Given the description of an element on the screen output the (x, y) to click on. 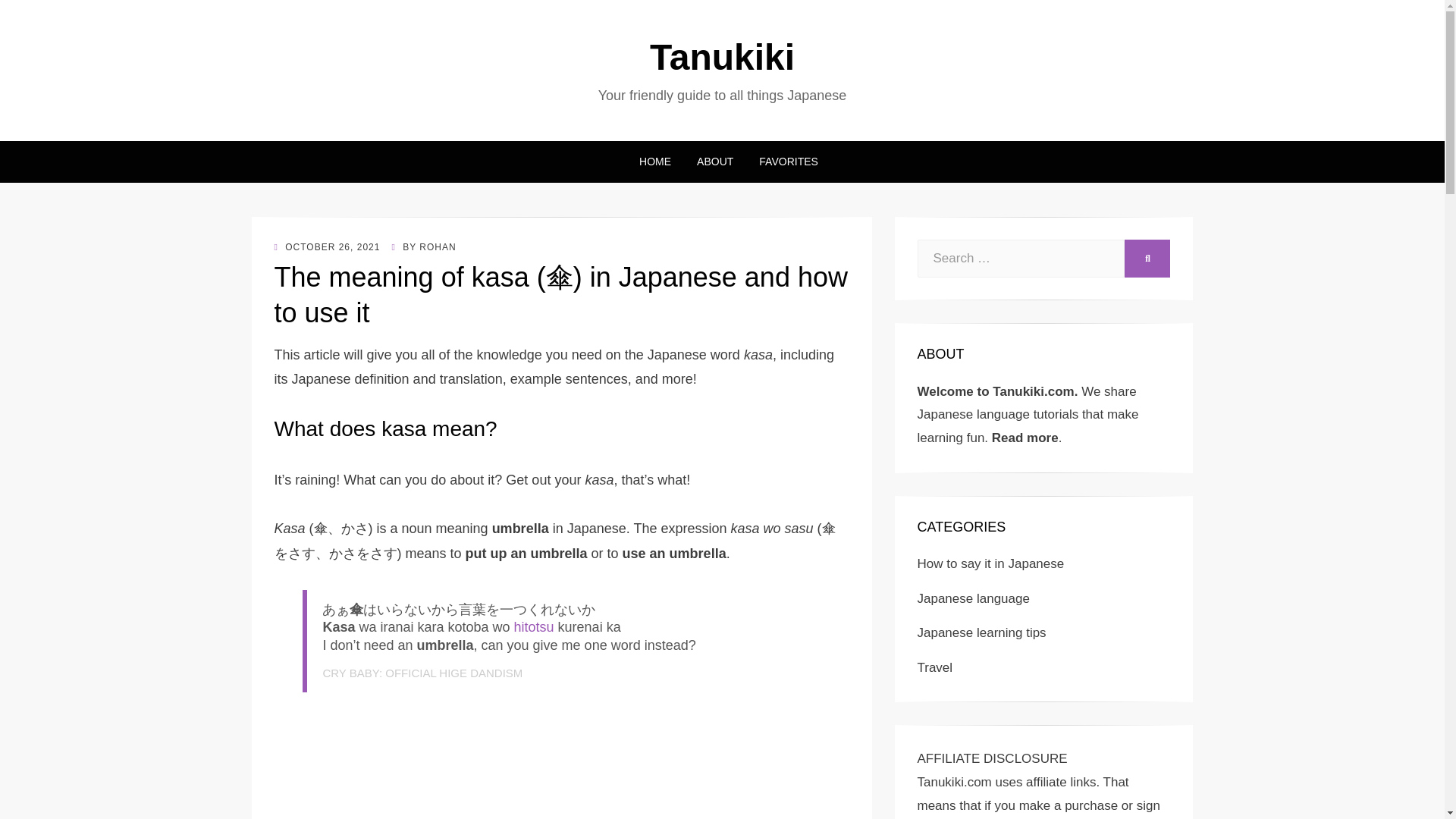
ROHAN (437, 246)
Search for: (1021, 258)
HOME (655, 161)
OCTOBER 26, 2021 (327, 246)
Tanukiki (721, 56)
hitotsu (533, 626)
FAVORITES (781, 161)
SEARCH (1147, 258)
ABOUT (714, 161)
How to say it in Japanese (990, 563)
